Given the description of an element on the screen output the (x, y) to click on. 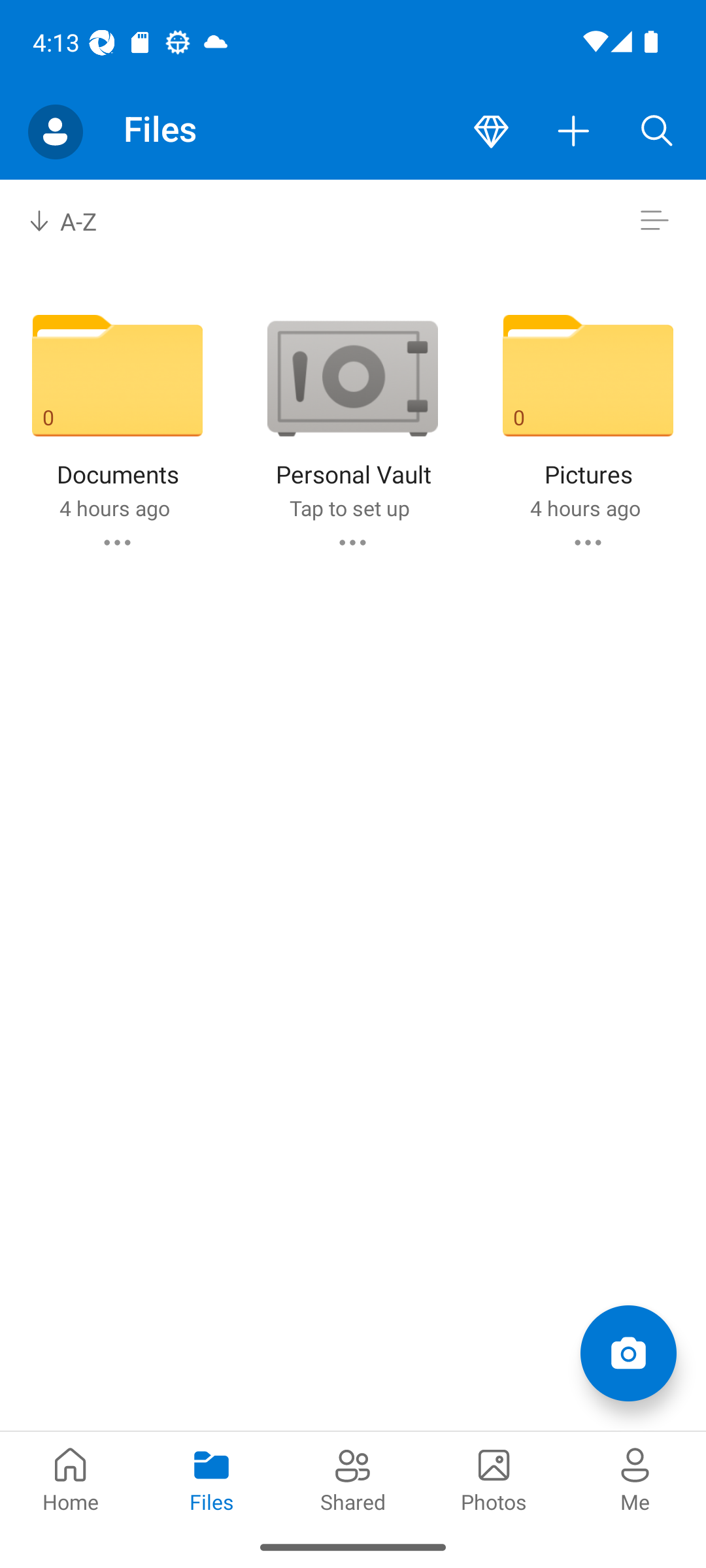
Account switcher (55, 131)
Premium button (491, 131)
More actions button (574, 131)
Search button (656, 131)
A-Z Sort by combo box, sort by name, A to Z (76, 220)
Switch to list view (654, 220)
4 hours ago (113, 507)
Tap to set up (348, 507)
4 hours ago (584, 507)
Documents commands (116, 542)
Personal Vault commands (352, 542)
Pictures commands (587, 542)
Add items Scan (628, 1352)
Home pivot Home (70, 1478)
Shared pivot Shared (352, 1478)
Photos pivot Photos (493, 1478)
Me pivot Me (635, 1478)
